Given the description of an element on the screen output the (x, y) to click on. 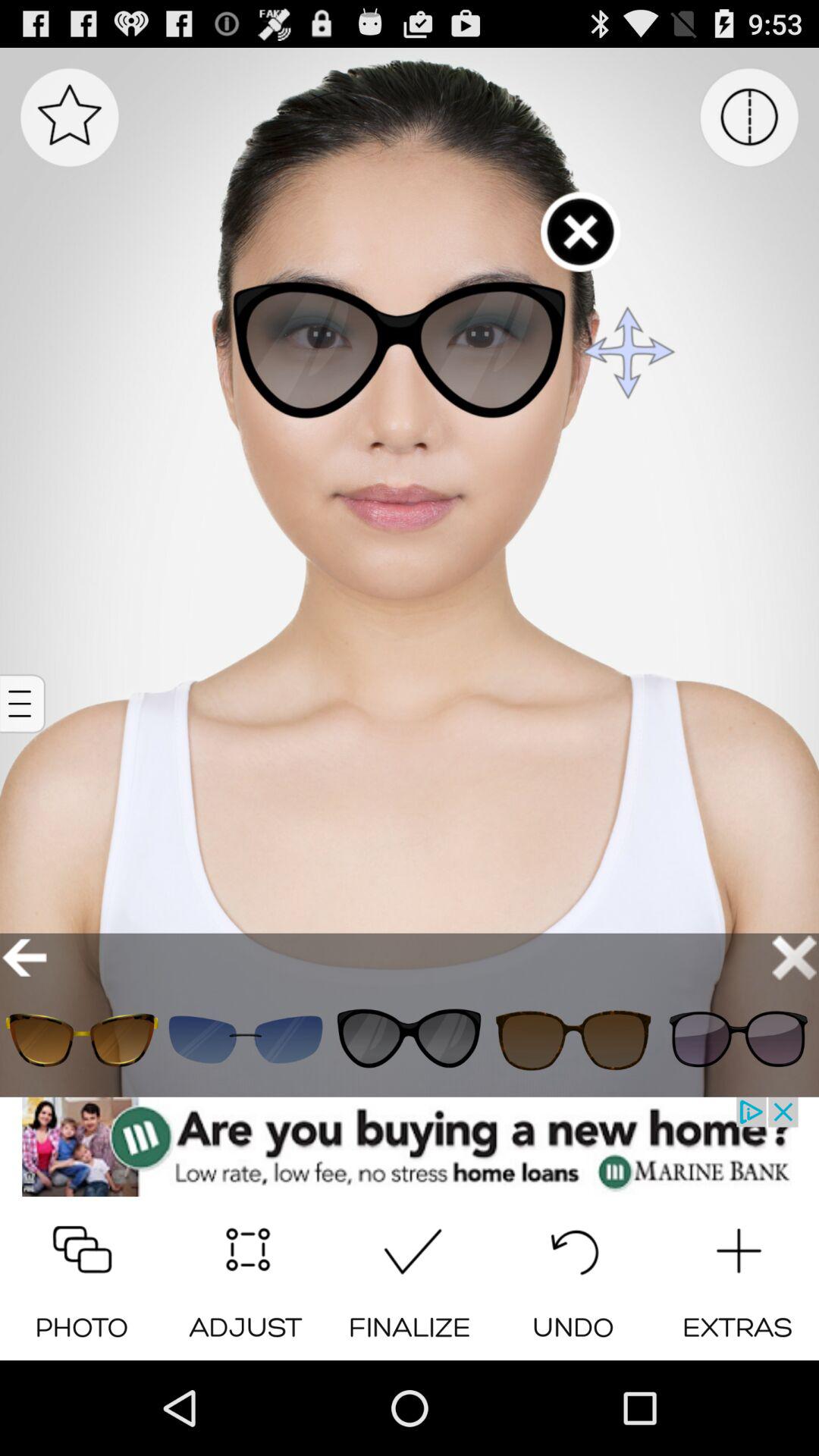
show all information available (24, 703)
